Given the description of an element on the screen output the (x, y) to click on. 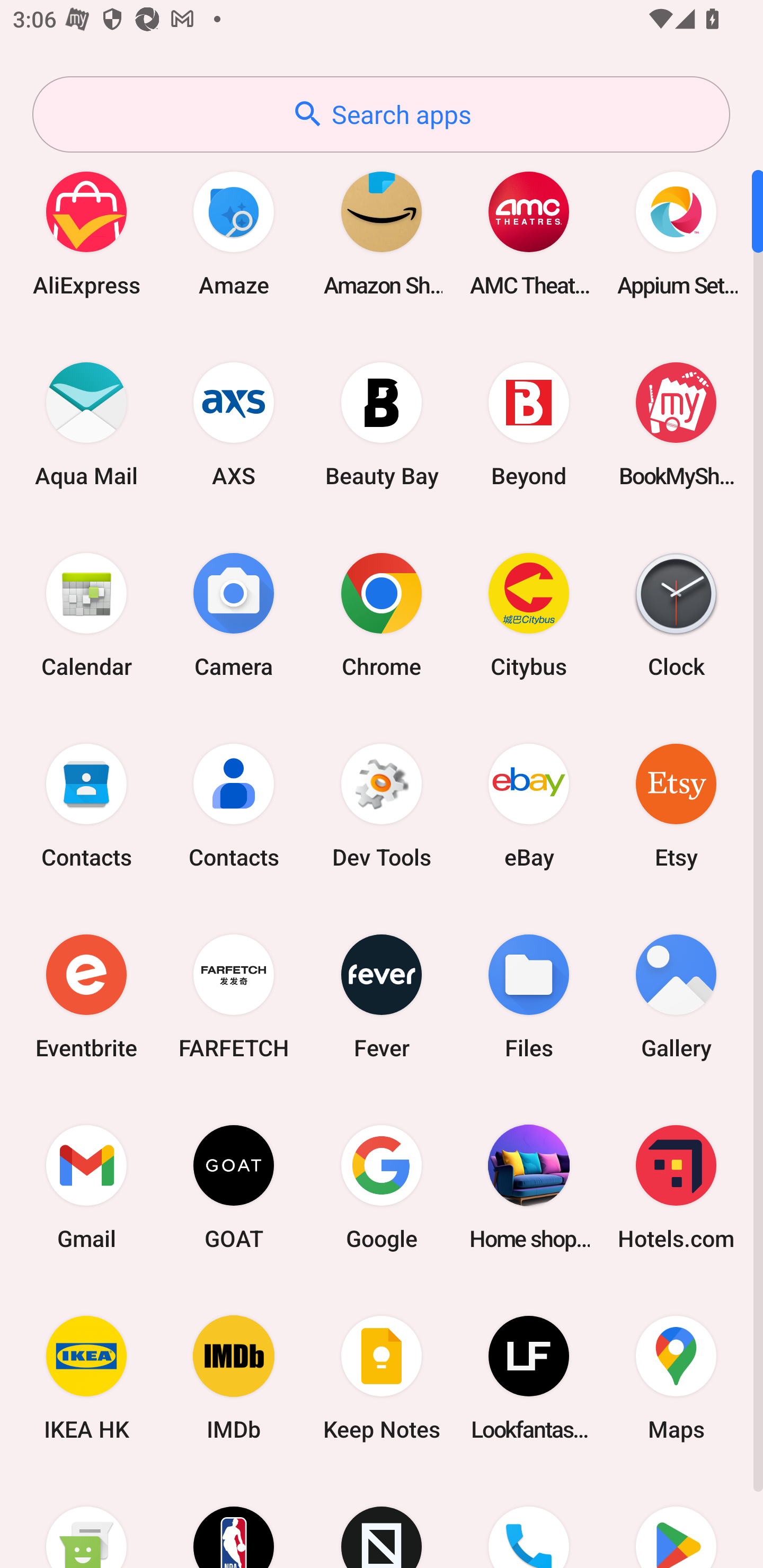
  Search apps (381, 114)
AliExpress (86, 233)
Amaze (233, 233)
Amazon Shopping (381, 233)
AMC Theatres (528, 233)
Appium Settings (676, 233)
Aqua Mail (86, 424)
AXS (233, 424)
Beauty Bay (381, 424)
Beyond (528, 424)
BookMyShow (676, 424)
Calendar (86, 614)
Camera (233, 614)
Chrome (381, 614)
Citybus (528, 614)
Clock (676, 614)
Contacts (86, 805)
Contacts (233, 805)
Dev Tools (381, 805)
eBay (528, 805)
Etsy (676, 805)
Eventbrite (86, 996)
FARFETCH (233, 996)
Fever (381, 996)
Files (528, 996)
Gallery (676, 996)
Gmail (86, 1186)
GOAT (233, 1186)
Google (381, 1186)
Home shopping (528, 1186)
Hotels.com (676, 1186)
IKEA HK (86, 1377)
IMDb (233, 1377)
Keep Notes (381, 1377)
Lookfantastic (528, 1377)
Maps (676, 1377)
Messaging (86, 1520)
NBA (233, 1520)
Novelship (381, 1520)
Phone (528, 1520)
Play Store (676, 1520)
